Given the description of an element on the screen output the (x, y) to click on. 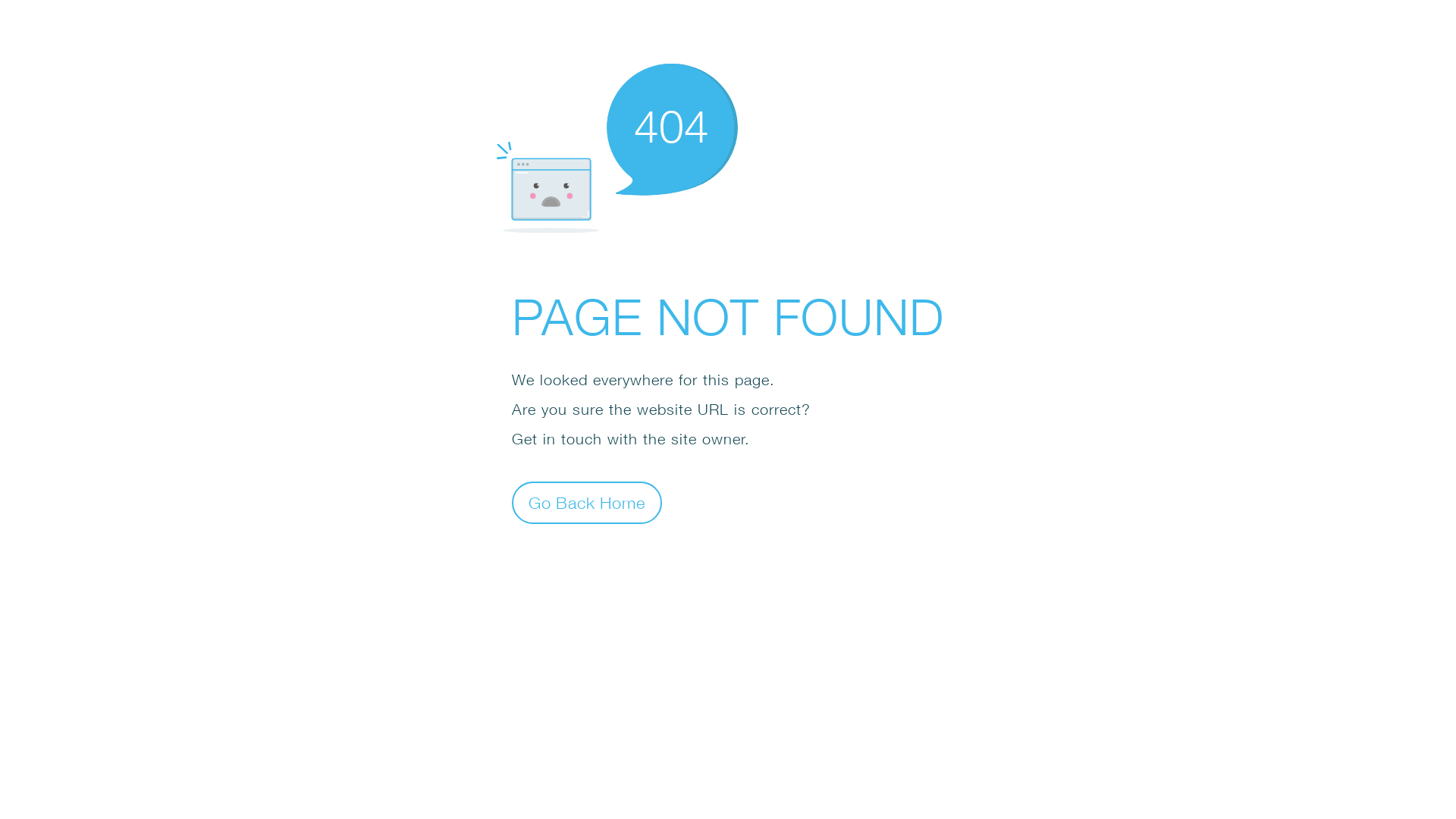
Go Back Home Element type: text (586, 502)
